Given the description of an element on the screen output the (x, y) to click on. 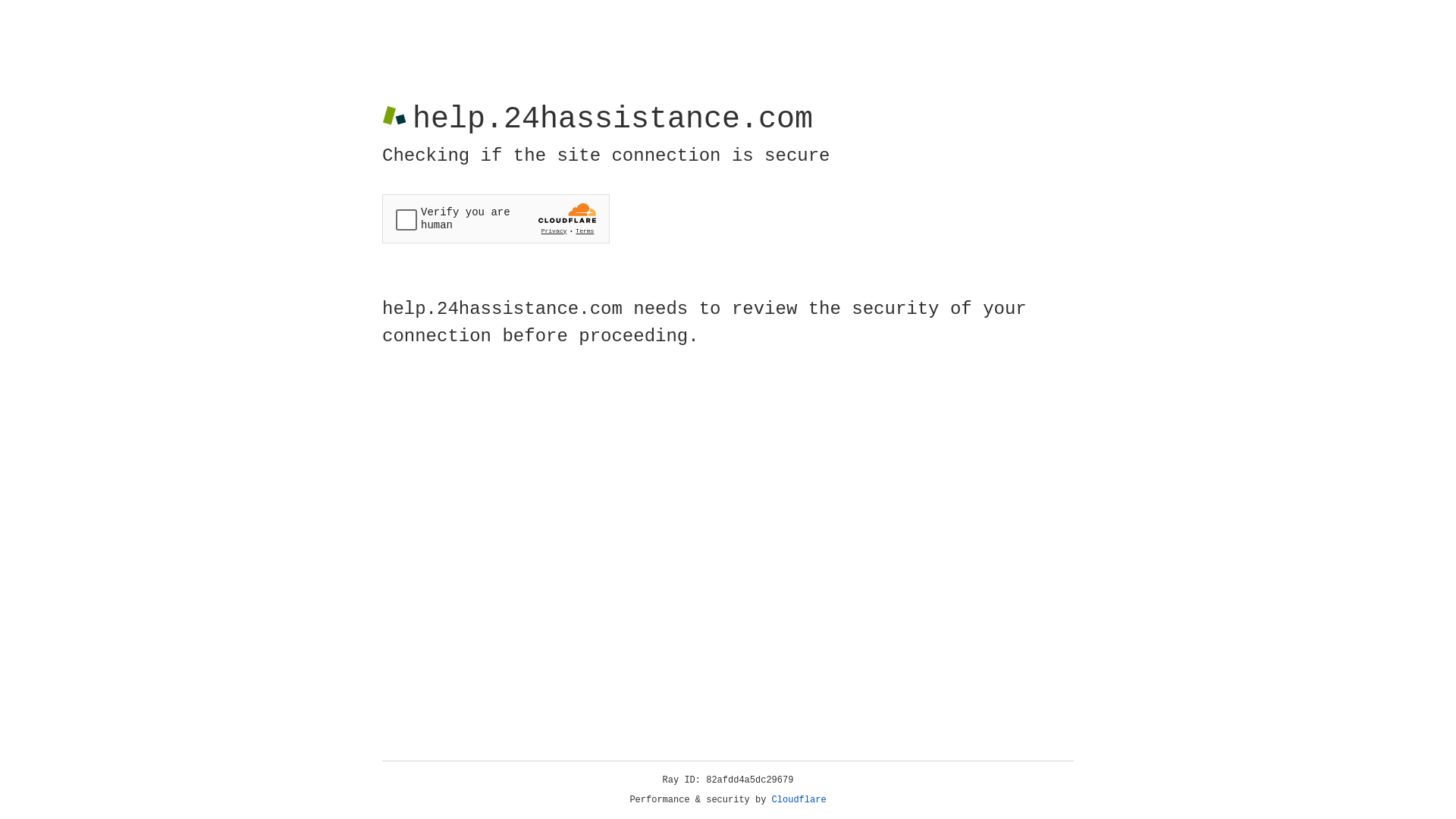
Widget containing a Cloudflare security challenge Element type: hover (495, 218)
Cloudflare Element type: text (798, 799)
